Given the description of an element on the screen output the (x, y) to click on. 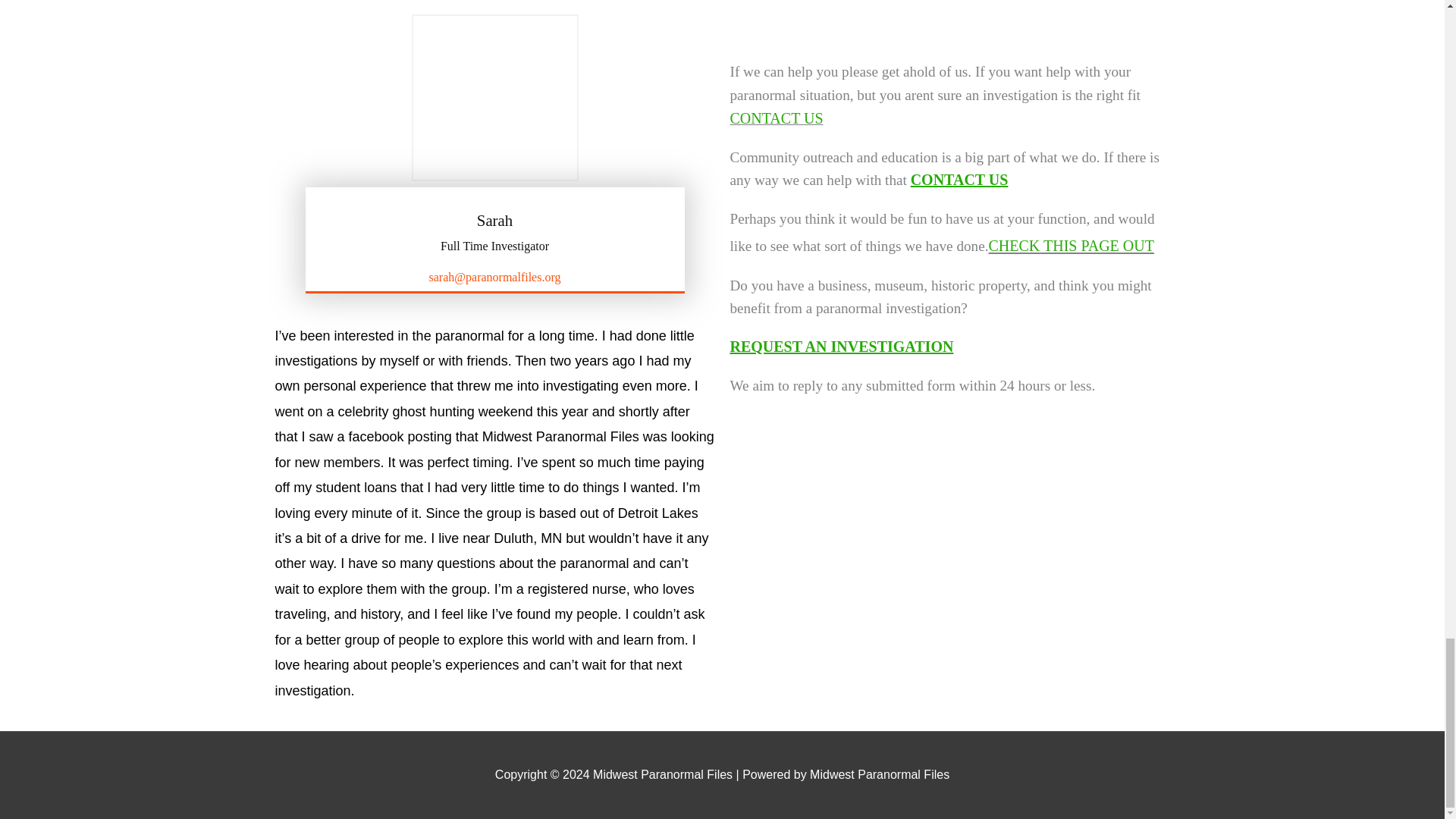
REQUEST AN INVESTIGATION (841, 346)
CONTACT US (775, 117)
THIS PAGE OUT (1096, 245)
CHECK (1014, 245)
CONTACT US (960, 179)
